Given the description of an element on the screen output the (x, y) to click on. 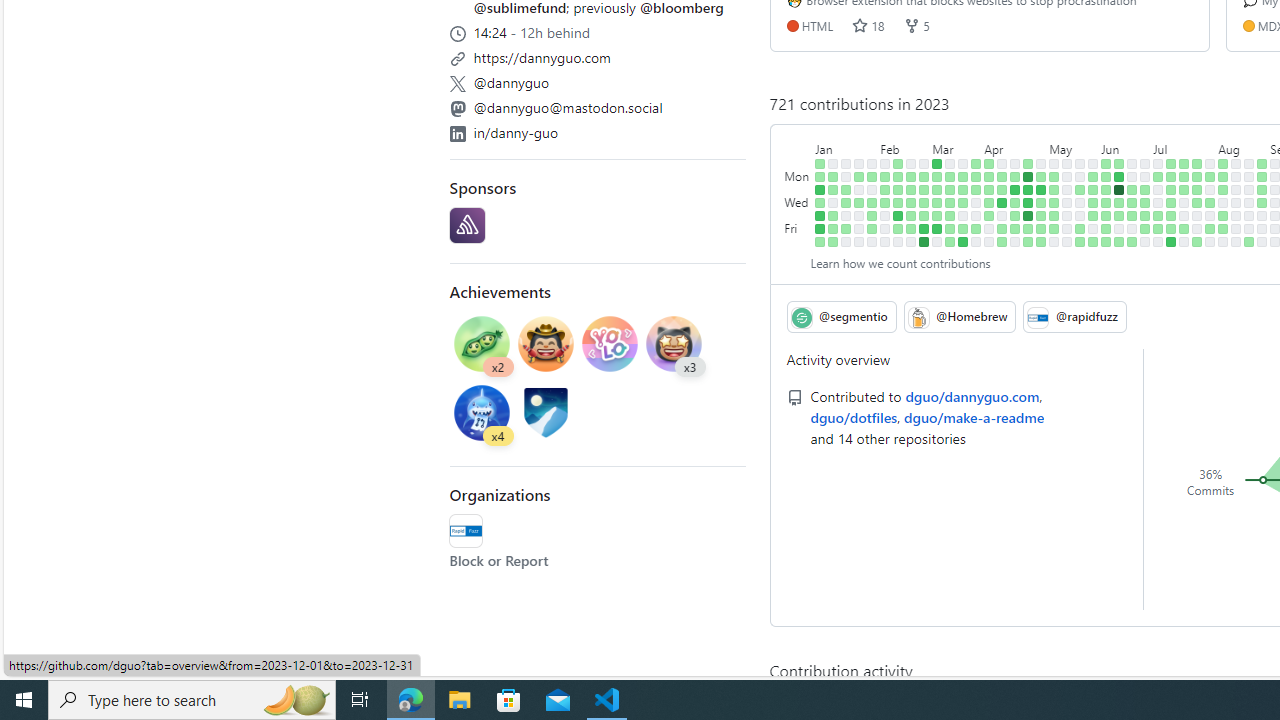
1 contribution on March 20th. (962, 176)
Achievement: Pair Extraordinaire x2 (481, 345)
No contributions on June 16th. (1119, 228)
No contributions on January 15th. (846, 163)
3 contributions on January 7th. (820, 241)
Achievement: Quickdraw (545, 345)
12 contributions on January 6th. (820, 228)
No contributions on January 8th. (833, 163)
No contributions on July 30th. (1210, 163)
No contributions on August 22nd. (1249, 189)
4 contributions on March 31st. (976, 228)
No contributions on April 16th. (1015, 163)
No contributions on May 22nd. (1080, 176)
No contributions on August 20th. (1249, 163)
16 contributions on April 26th. (1028, 202)
